Given the description of an element on the screen output the (x, y) to click on. 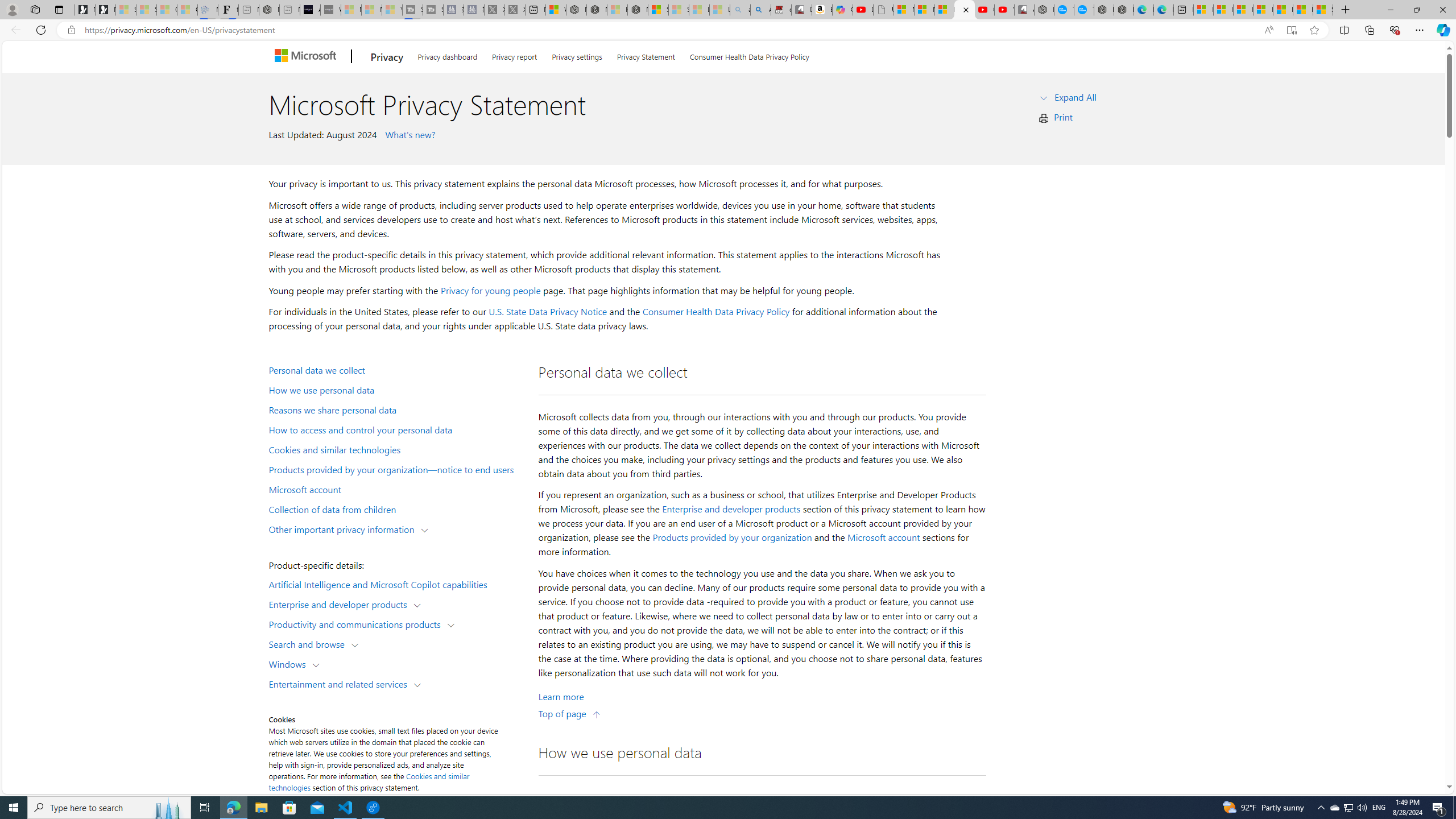
Learn More about Personal data we collect (560, 696)
Microsoft (306, 56)
Personal data we collect (395, 368)
Reasons we share personal data (395, 409)
YouTube Kids - An App Created for Kids to Explore Content (1004, 9)
Products provided by your organization (732, 537)
How to access and control your personal data (395, 428)
Privacy Statement (645, 54)
Privacy settings (576, 54)
Untitled (882, 9)
